Given the description of an element on the screen output the (x, y) to click on. 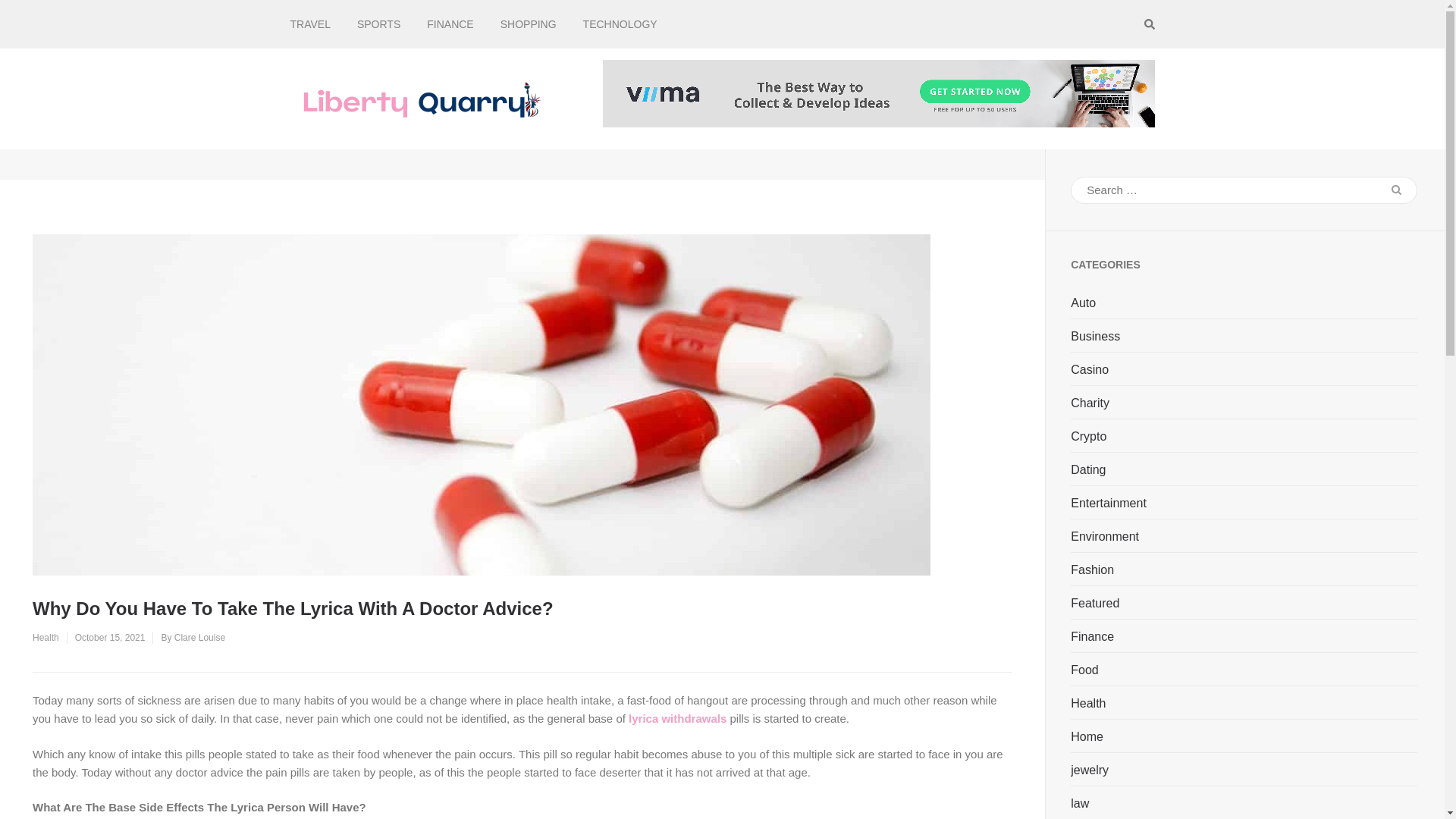
Charity (1089, 402)
Auto (1083, 303)
law (1079, 803)
Dating (1087, 469)
Business (1094, 336)
SPORTS (378, 24)
Fashion (1091, 569)
FINANCE (449, 24)
Search (1395, 189)
Health (45, 637)
